Given the description of an element on the screen output the (x, y) to click on. 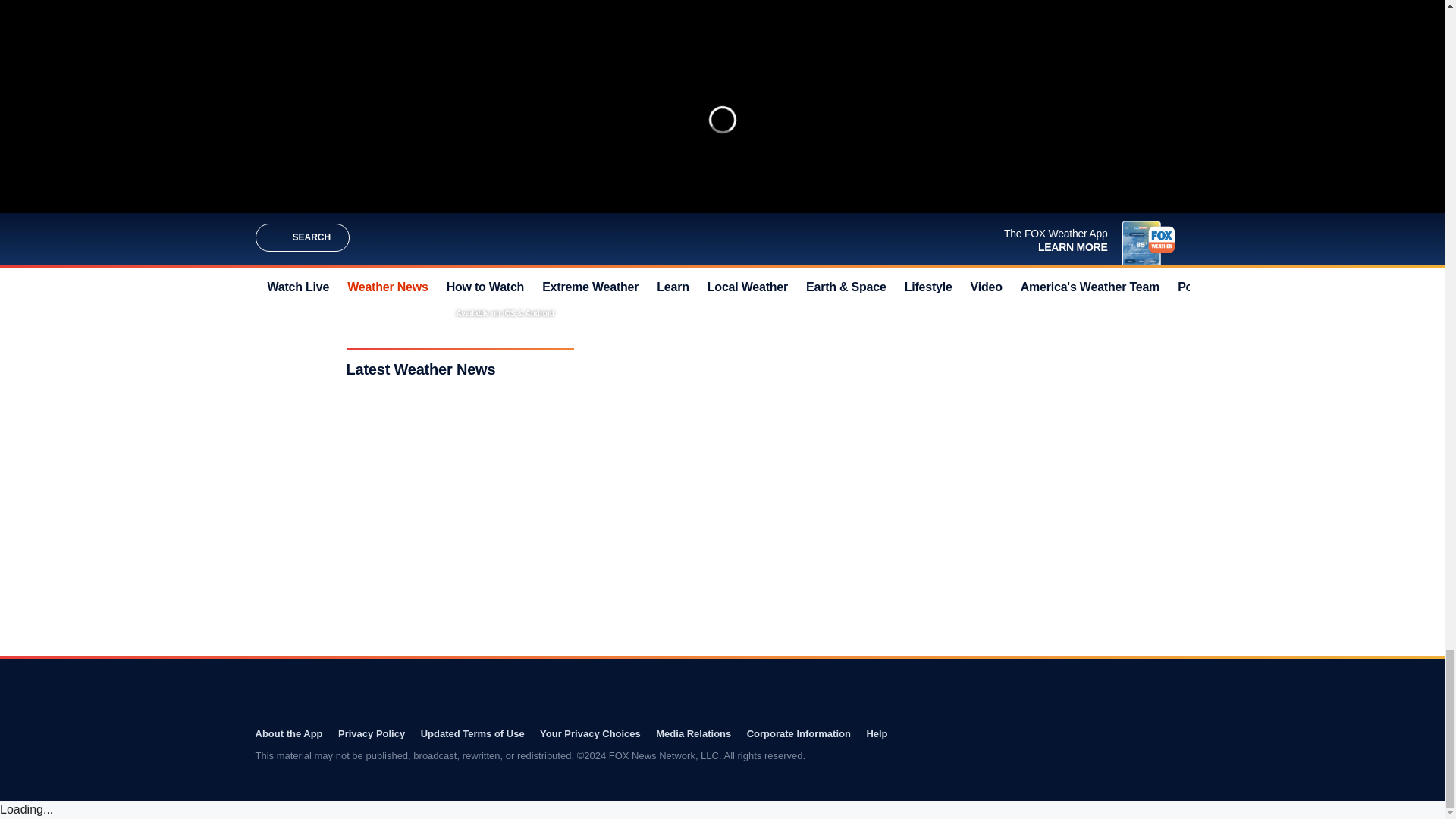
NORTHEAST (734, 204)
CLIMATE (792, 204)
SNOW (839, 204)
WINTER WEATHER (657, 204)
WHAT IS THE 'POLAR VORTEX'? (695, 20)
